Given the description of an element on the screen output the (x, y) to click on. 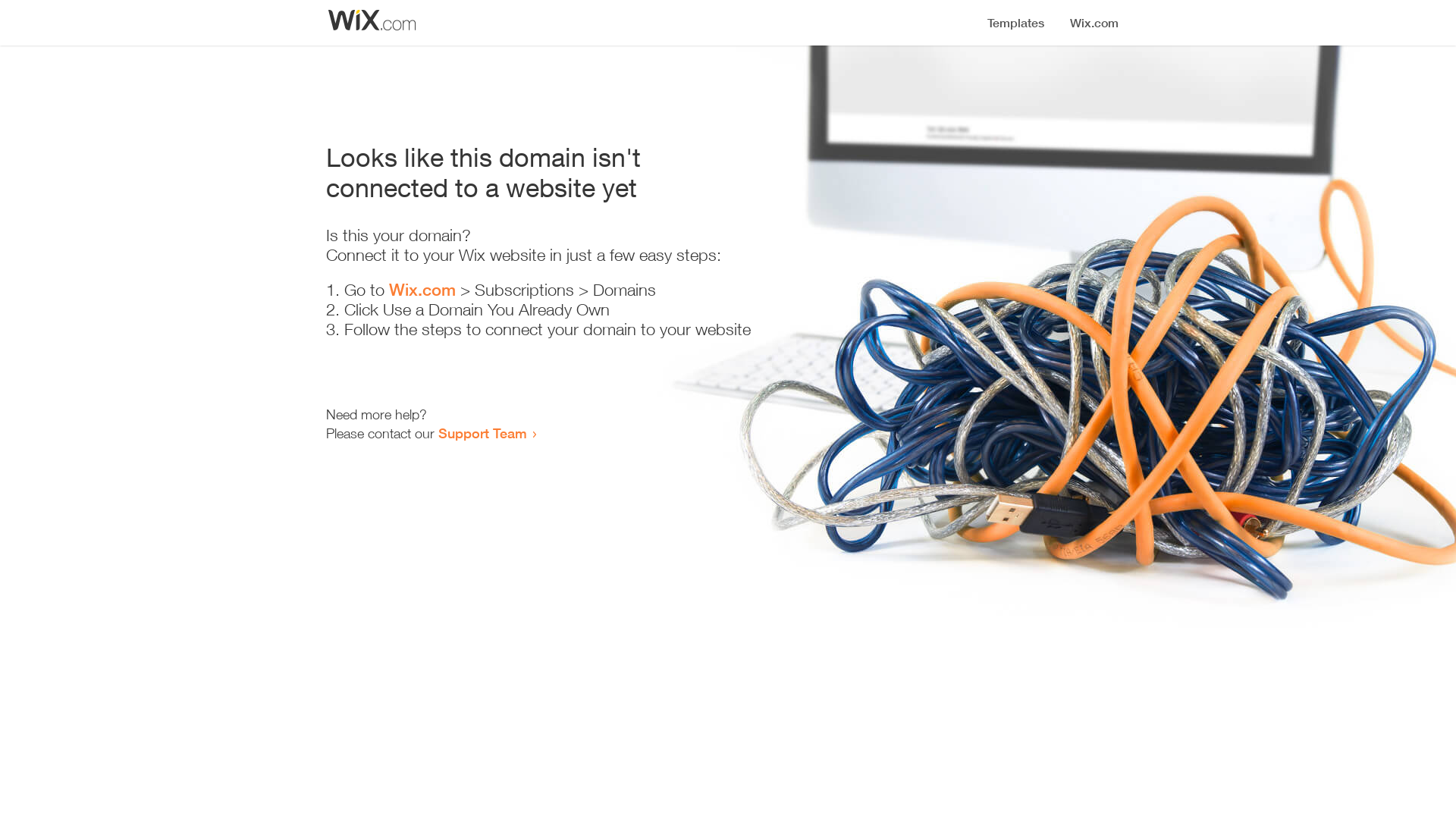
Wix.com Element type: text (422, 289)
Support Team Element type: text (482, 432)
